Given the description of an element on the screen output the (x, y) to click on. 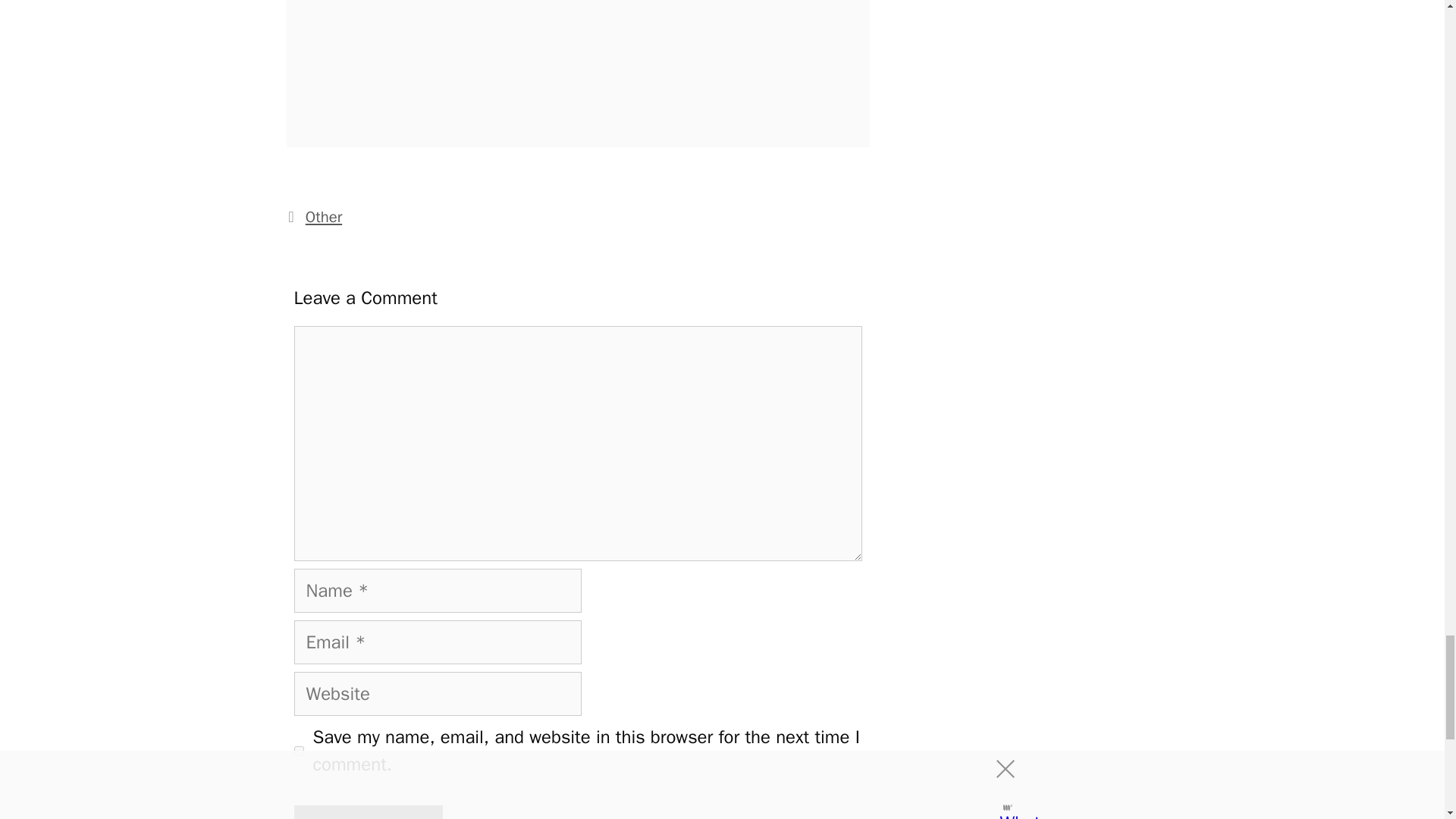
Post Comment (368, 812)
yes (299, 750)
